Given the description of an element on the screen output the (x, y) to click on. 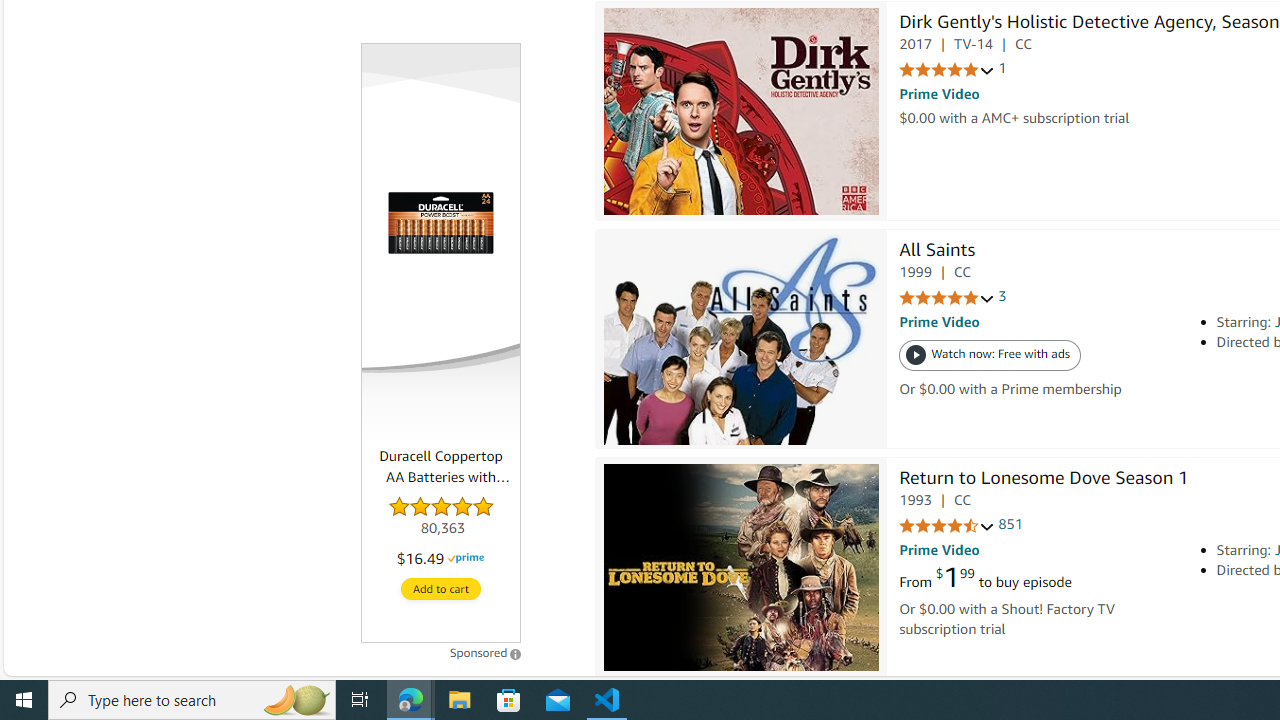
Return to Lonesome Dove Season 1 (1043, 480)
All Saints (741, 339)
From $1.99 to buy episode (985, 578)
851 (1010, 524)
Leave feedback on Sponsored ad (485, 652)
Watch now: Free with ads (989, 355)
Dirk Gently's Holistic Detective Agency, Season 2 (741, 111)
3 (1002, 296)
Return to Lonesome Dove Season 1 (741, 567)
5.0 out of 5 stars (946, 298)
Prime Video (939, 550)
4.6 out of 5 stars (946, 526)
Go back to filtering menu (84, 666)
Add to cart (441, 589)
